Given the description of an element on the screen output the (x, y) to click on. 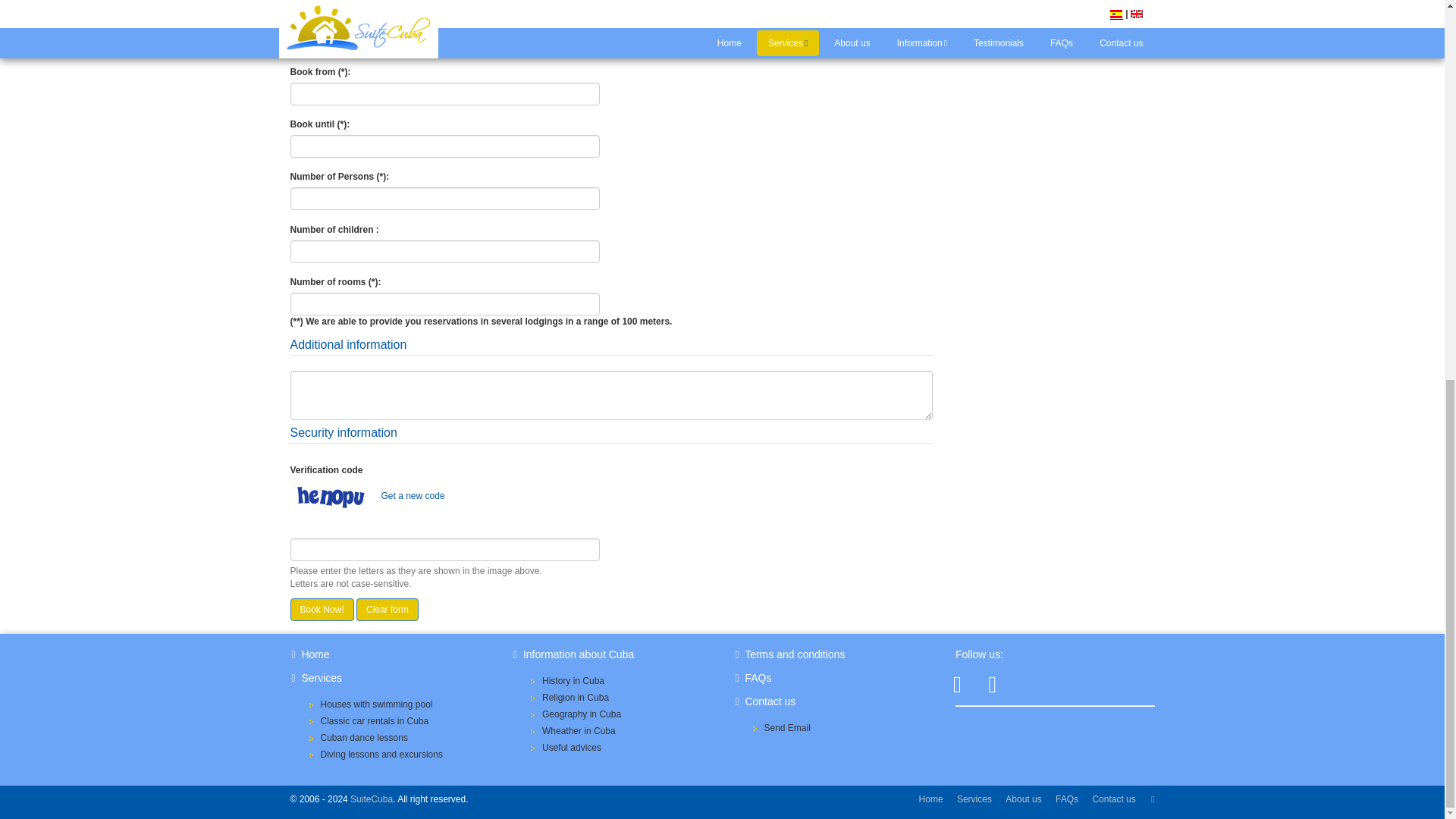
Book Now! (321, 609)
Get a new code (412, 495)
Clear form (387, 609)
